Given the description of an element on the screen output the (x, y) to click on. 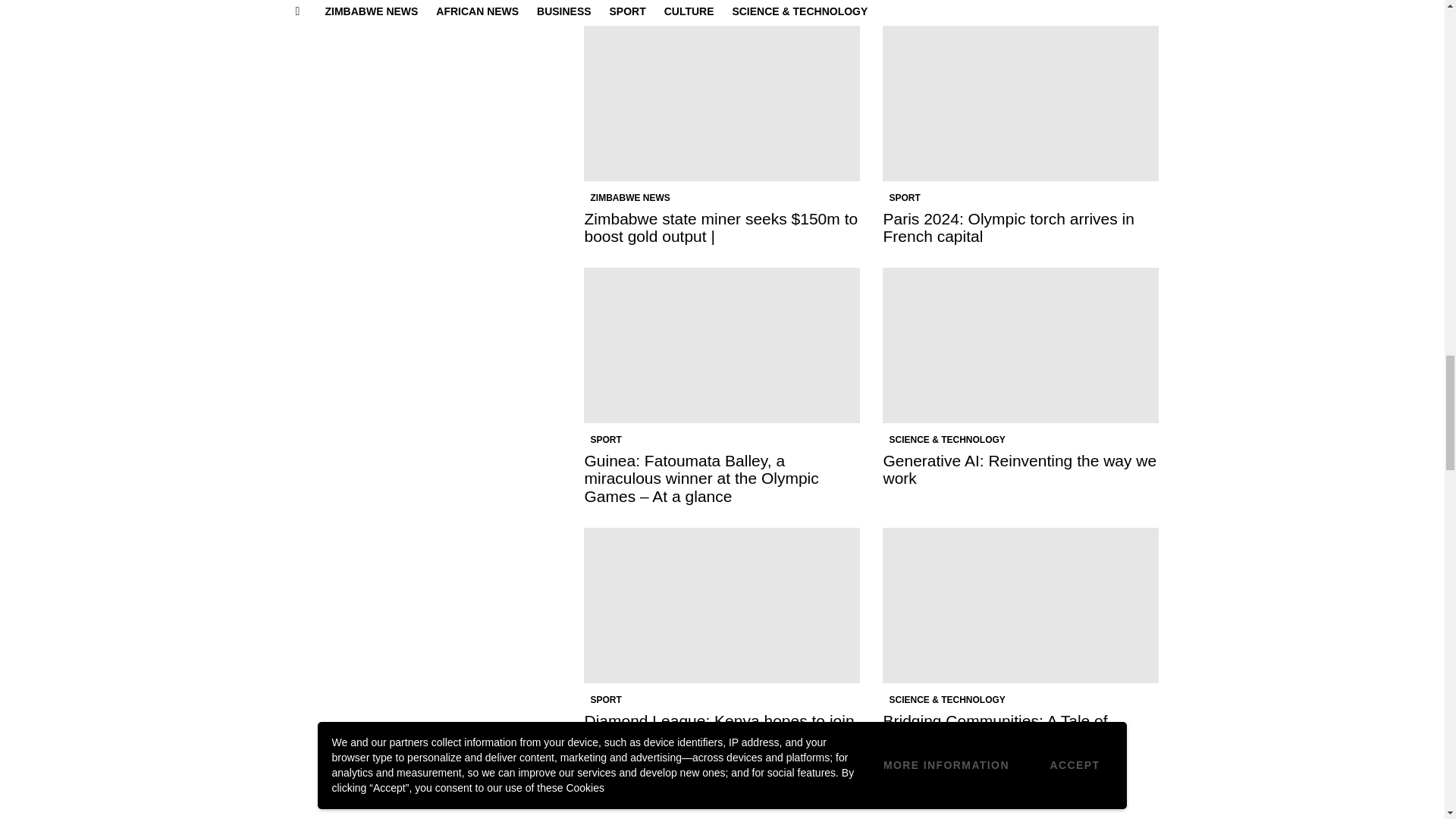
Paris 2024: Olympic torch arrives in French capital (1020, 102)
ZIMBABWE NEWS (629, 197)
SPORT (904, 197)
Paris 2024: Olympic torch arrives in French capital (1008, 226)
Generative AI: Reinventing the way we work (1020, 345)
SPORT (605, 439)
